Given the description of an element on the screen output the (x, y) to click on. 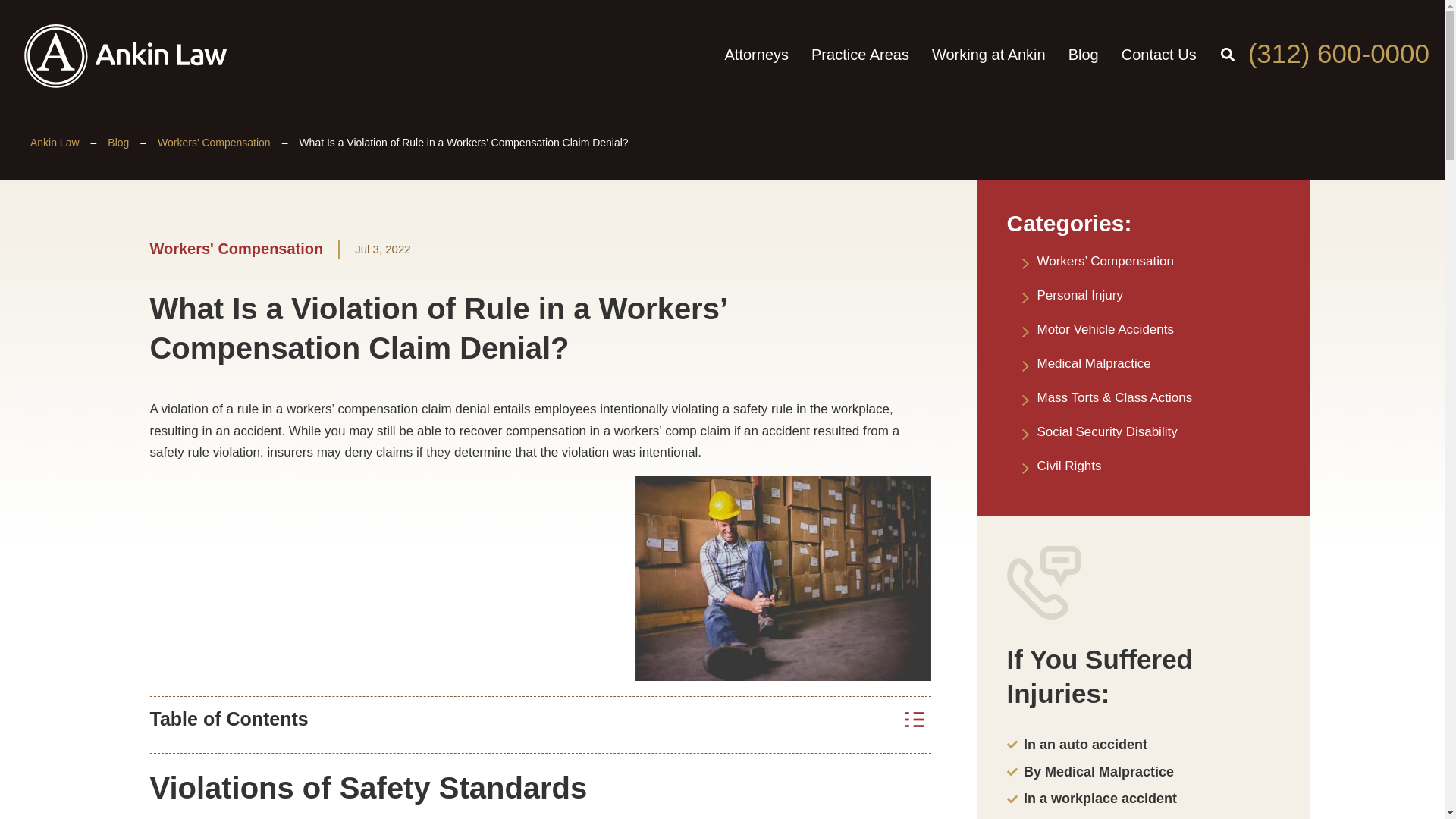
Contact Us (1158, 54)
Blog (1083, 54)
Ankin Law (55, 142)
Workers' Compensation (213, 142)
Blog (118, 142)
Attorneys (756, 54)
Practice Areas (859, 54)
Working at Ankin (988, 54)
